Given the description of an element on the screen output the (x, y) to click on. 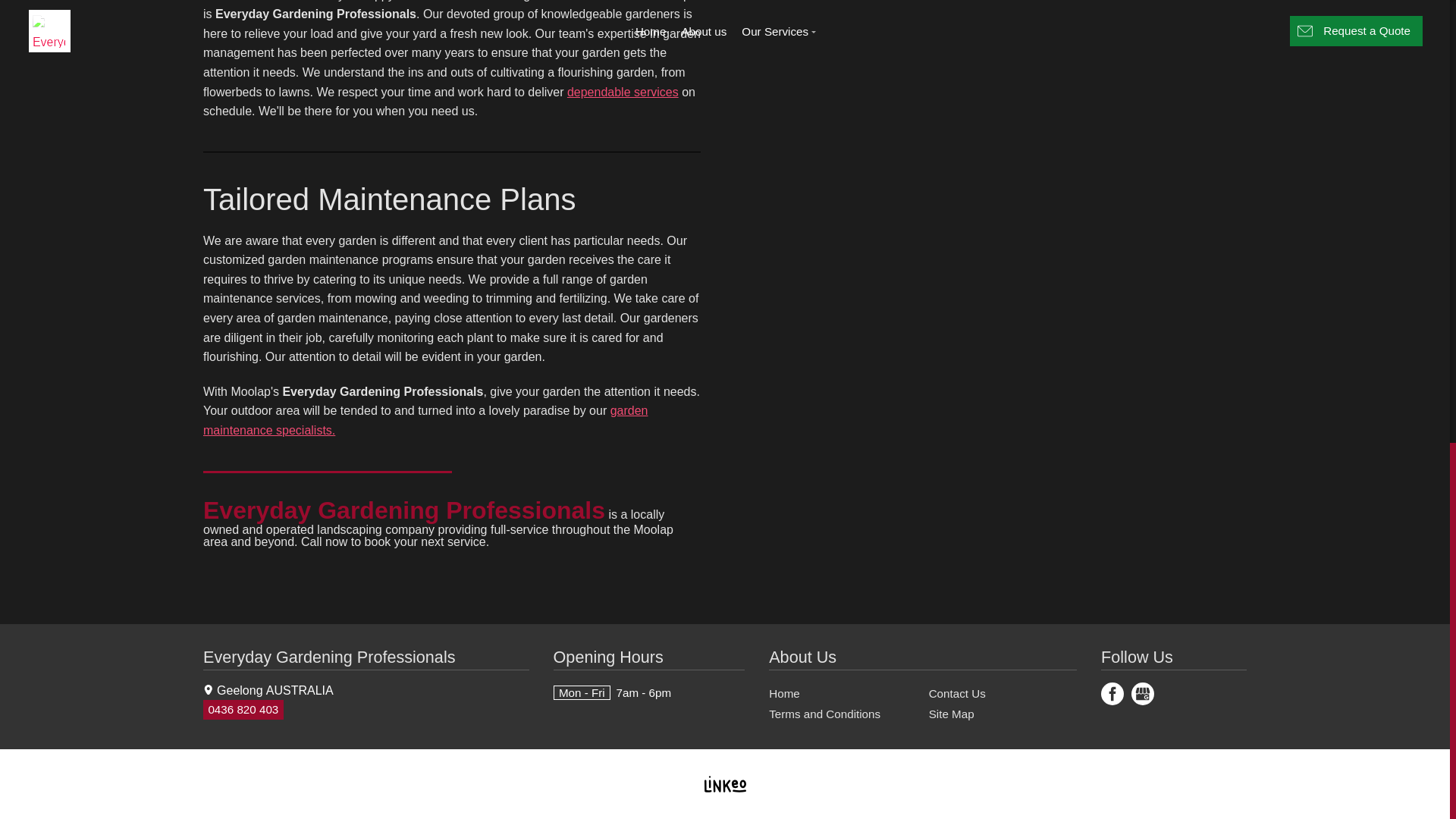
google my business (1142, 693)
Site Map (951, 713)
garden maintenance specialists. (425, 420)
linkeo (724, 783)
Facebook (1112, 693)
0436 820 403 (243, 709)
dependable services (622, 91)
Contact Us (956, 692)
Terms and Conditions (824, 713)
Home (783, 692)
